Given the description of an element on the screen output the (x, y) to click on. 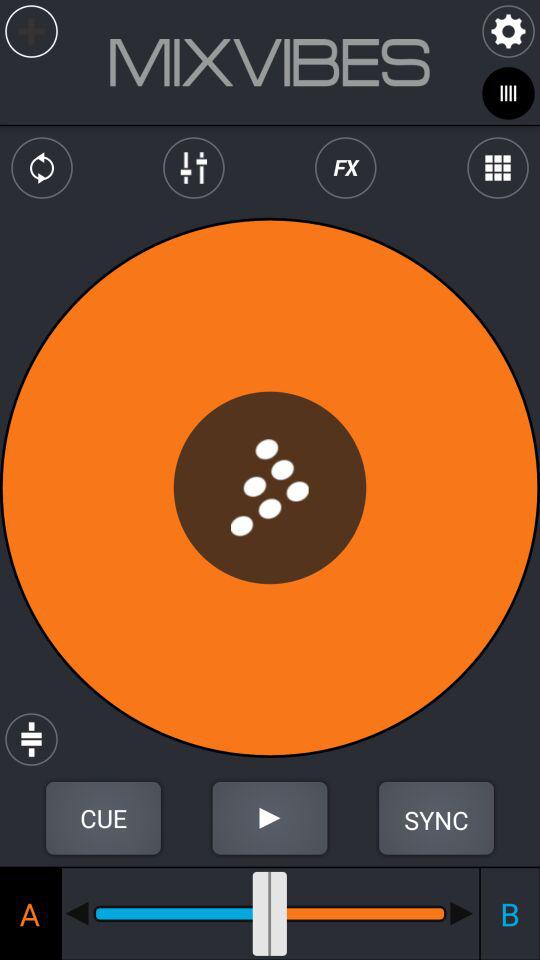
cue (103, 818)
